Given the description of an element on the screen output the (x, y) to click on. 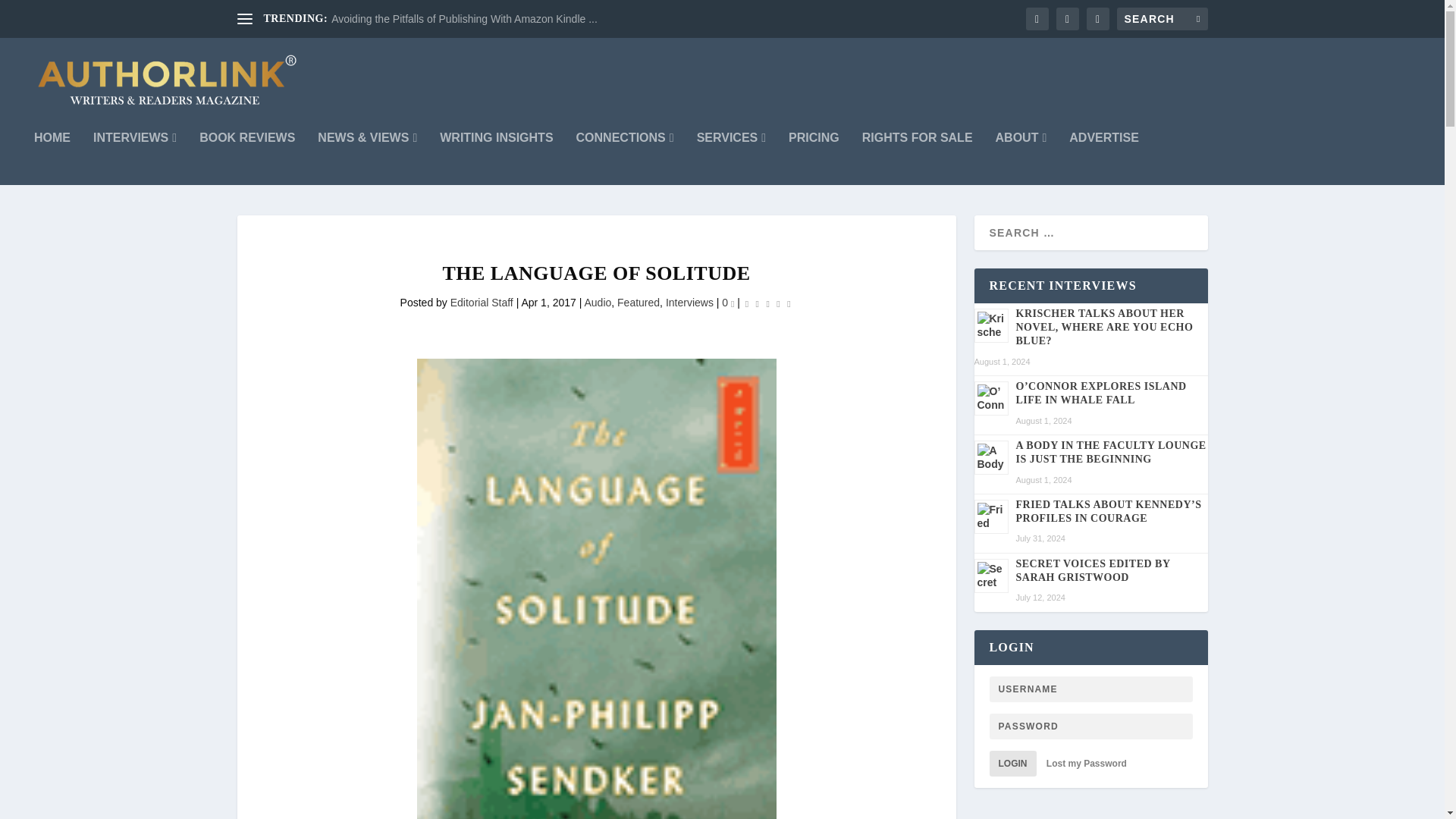
Posts by Editorial Staff (481, 302)
Avoiding the Pitfalls of Publishing With Amazon Kindle ... (463, 19)
RIGHTS FOR SALE (916, 158)
WRITING INSIGHTS (496, 158)
PRICING (814, 158)
SERVICES (731, 158)
BOOK REVIEWS (247, 158)
Rating: 0.00 (767, 303)
ABOUT (1020, 158)
Search for: (1161, 18)
